Given the description of an element on the screen output the (x, y) to click on. 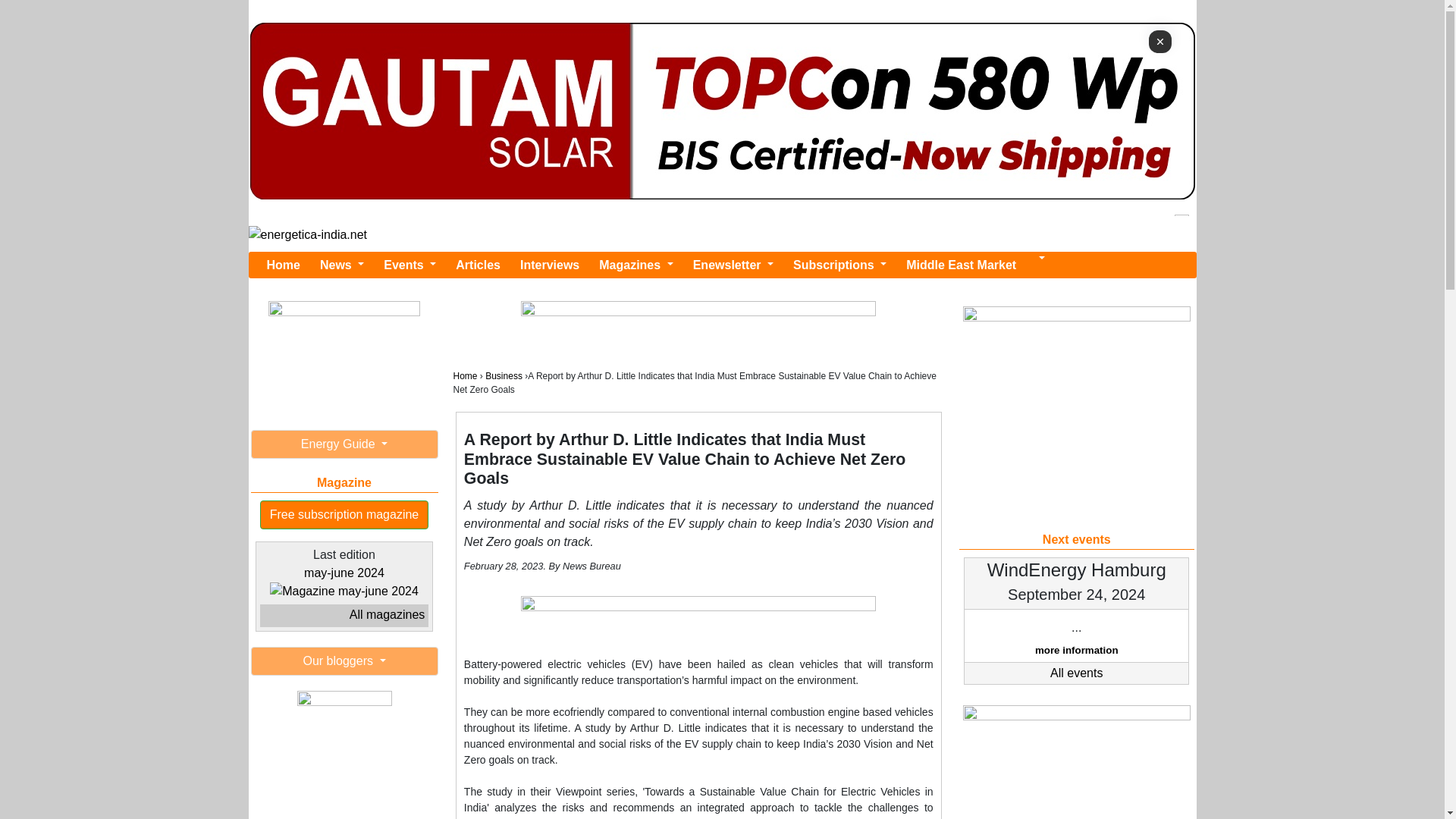
Home (282, 265)
Home Energetica India (282, 265)
News (341, 265)
